Given the description of an element on the screen output the (x, y) to click on. 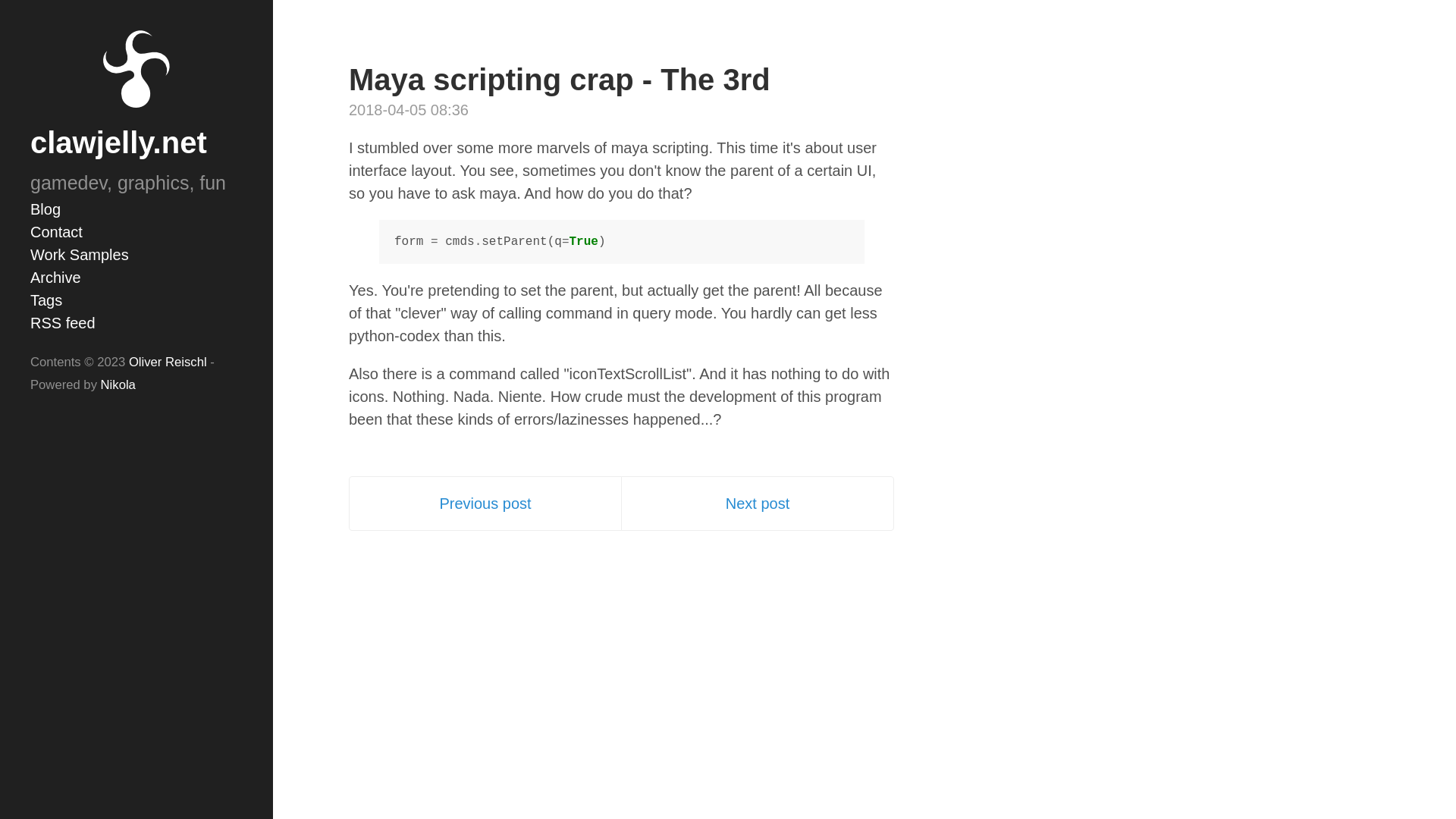
Work Samples (136, 253)
Another funky maya quirk! (757, 503)
clawjelly.net (118, 142)
Archive (136, 276)
Maya scripting crap - The 3rd (559, 79)
Contact (136, 231)
clawjelly.net (118, 142)
Next post (757, 503)
Oliver Reischl (167, 361)
2018-04-05 08:36 (408, 109)
Blog (136, 208)
Nikola (117, 384)
Tags (136, 299)
RSS feed (136, 322)
